Given the description of an element on the screen output the (x, y) to click on. 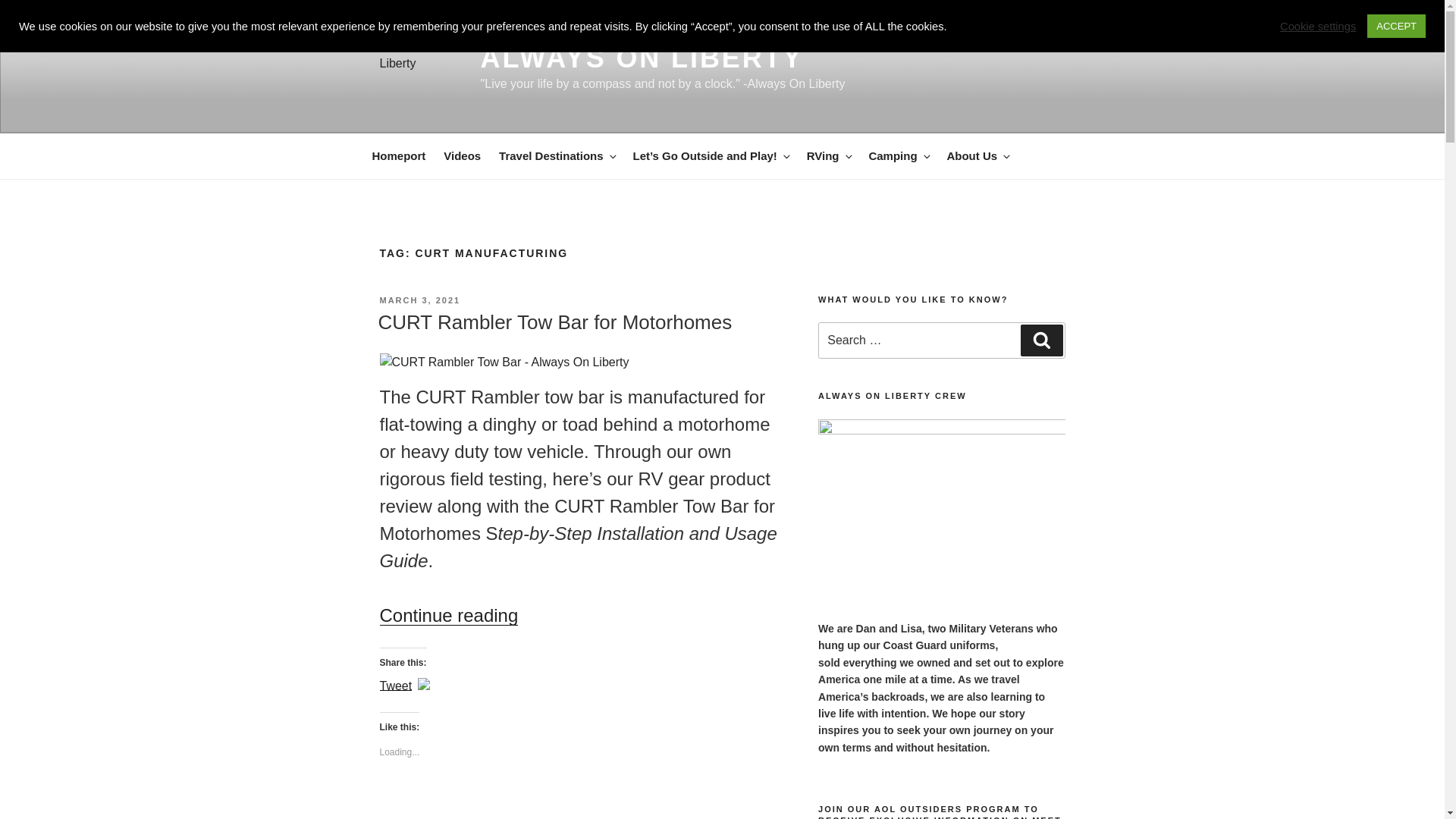
Travel Destinations (557, 156)
RVing (829, 156)
Camping (898, 156)
ALWAYS ON LIBERTY (641, 57)
Homeport (398, 156)
Videos (461, 156)
